Given the description of an element on the screen output the (x, y) to click on. 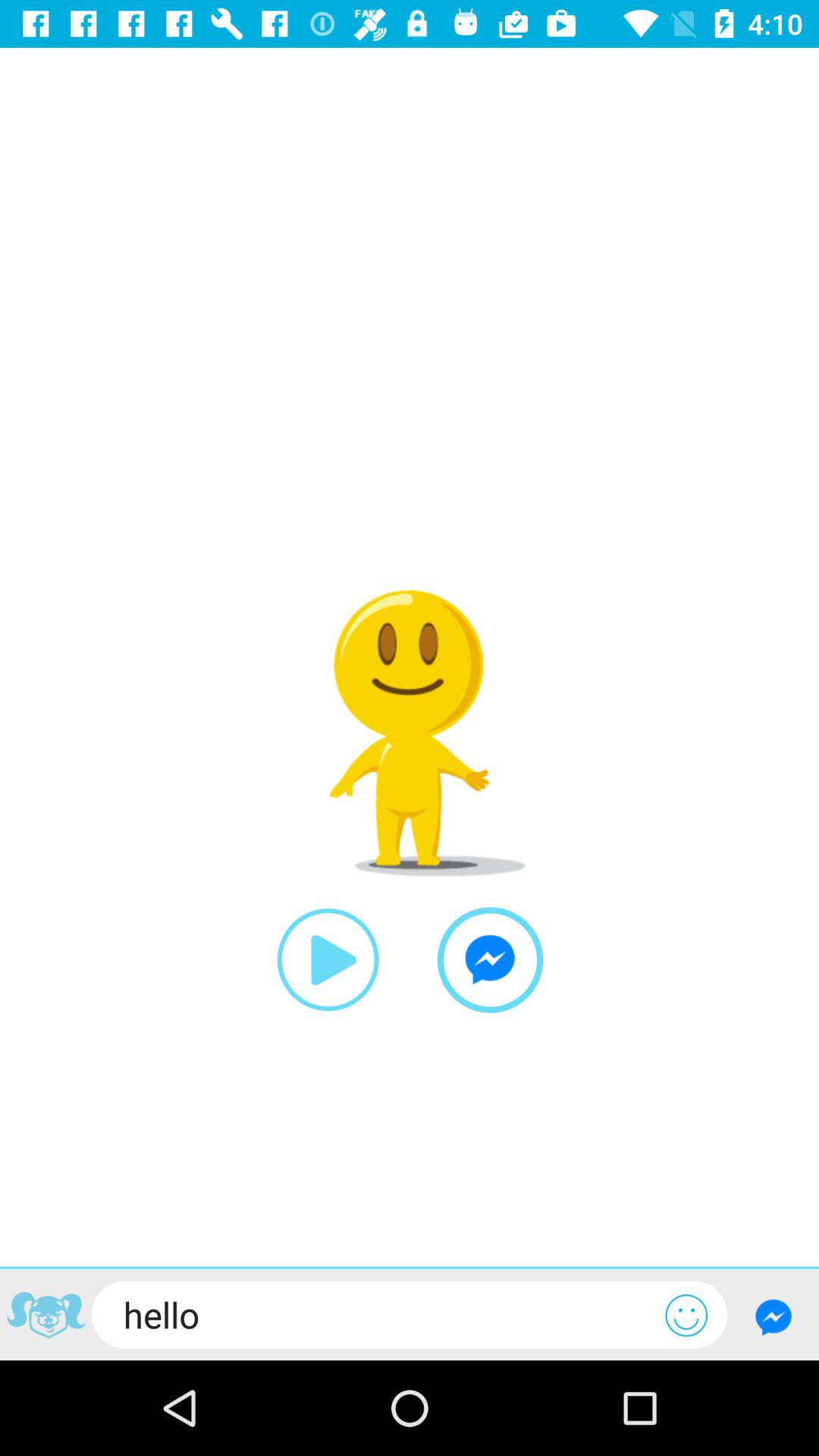
send emoji (686, 1315)
